Given the description of an element on the screen output the (x, y) to click on. 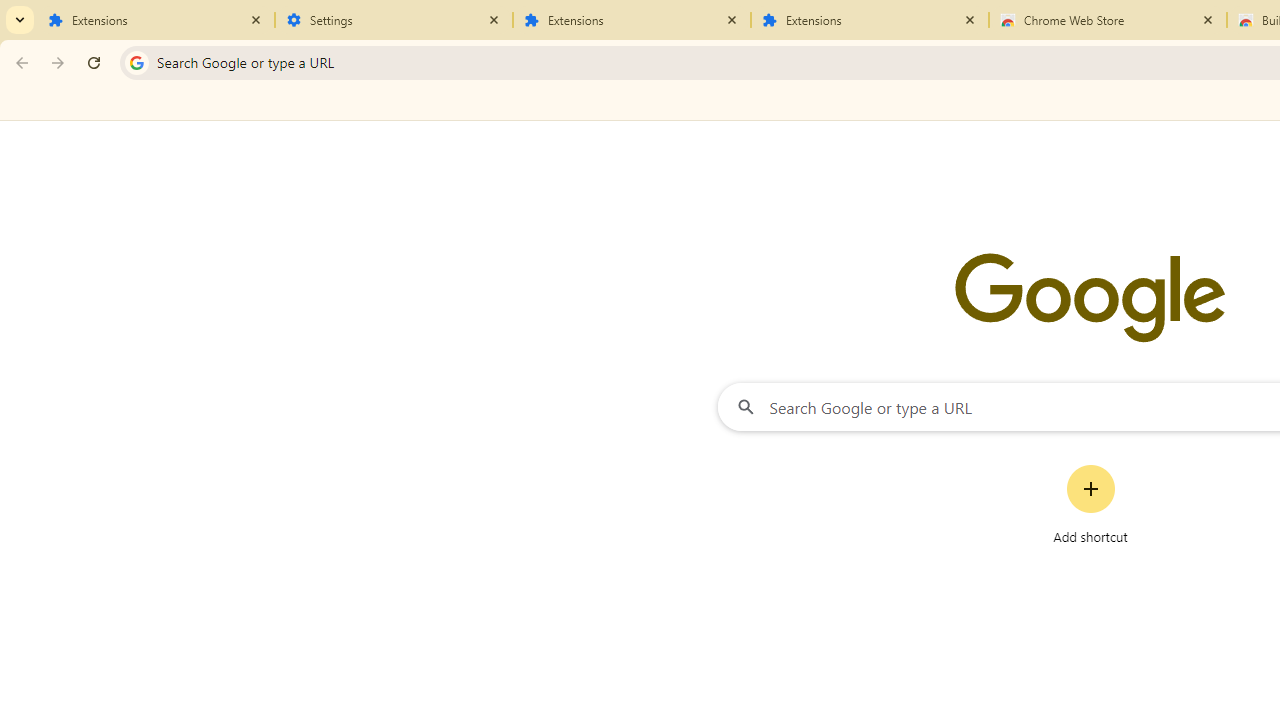
Chrome Web Store (1108, 20)
Extensions (870, 20)
Add shortcut (1090, 504)
Extensions (156, 20)
Settings (394, 20)
Extensions (632, 20)
